Given the description of an element on the screen output the (x, y) to click on. 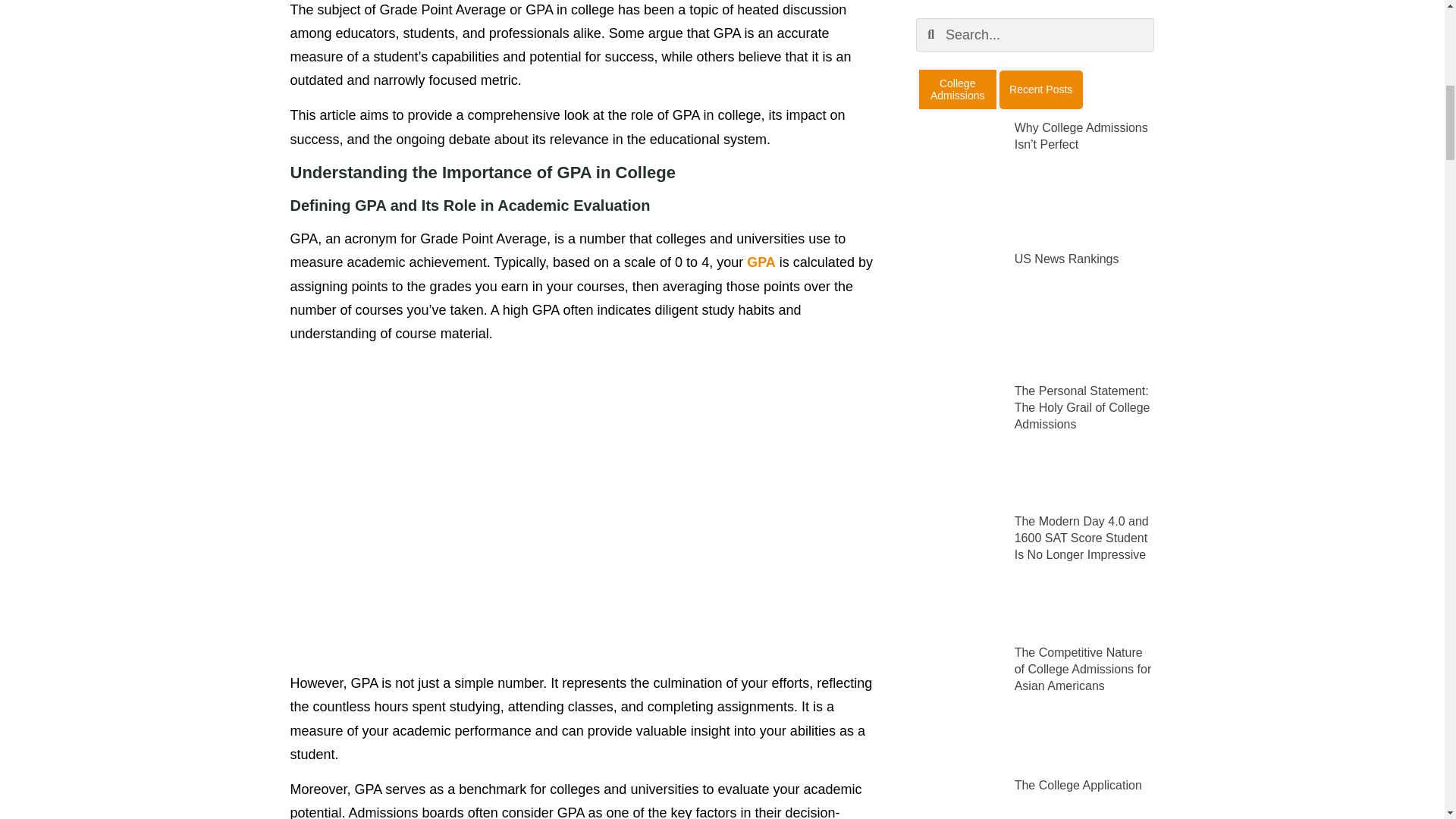
GPA (761, 262)
